Given the description of an element on the screen output the (x, y) to click on. 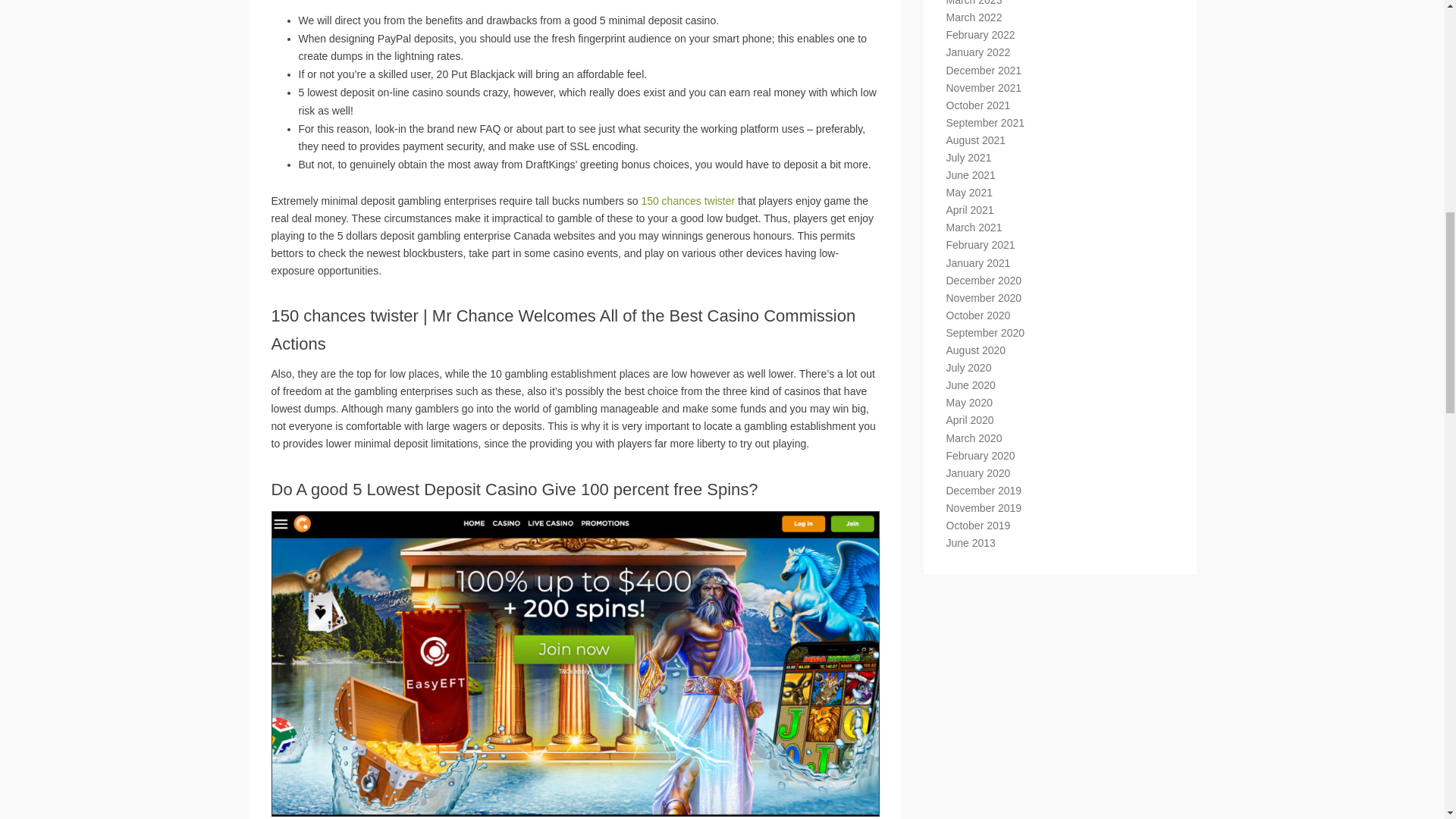
March 2023 (974, 2)
150 chances twister (687, 200)
